Given the description of an element on the screen output the (x, y) to click on. 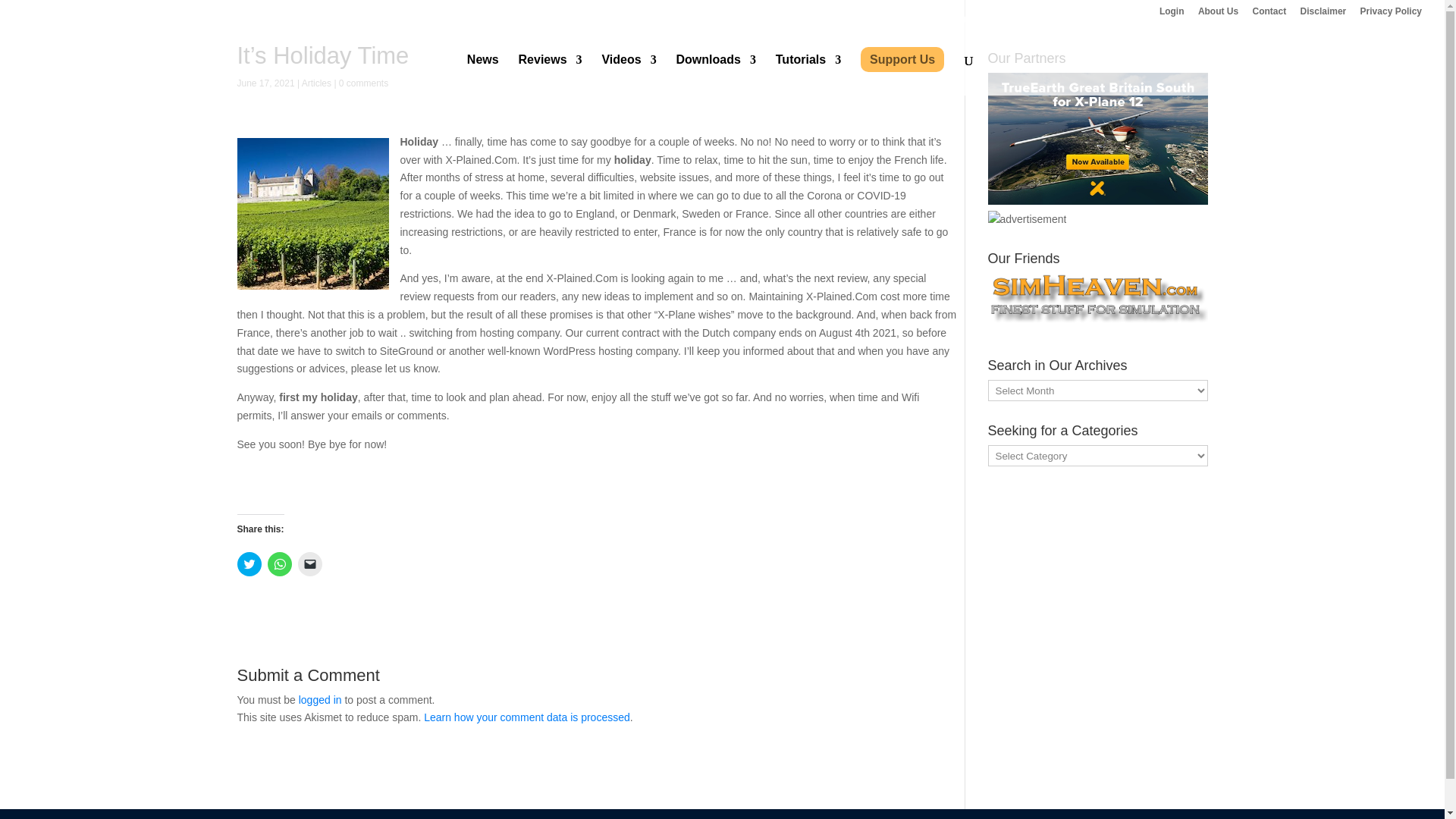
Click to email a link to a friend (309, 564)
Privacy Policy (1390, 14)
Downloads (716, 74)
Simheaven ... Finest Stuff for Your Simulation (1097, 301)
Click to share on WhatsApp (278, 564)
Disclaimer (1323, 14)
Login (1171, 14)
Videos (628, 74)
advertisement (1097, 138)
About Us (1218, 14)
Reviews (550, 74)
PC Simulation, Simulators, Hardware and Games (1026, 219)
Contact (1269, 14)
Click to share on Twitter (247, 564)
